Given the description of an element on the screen output the (x, y) to click on. 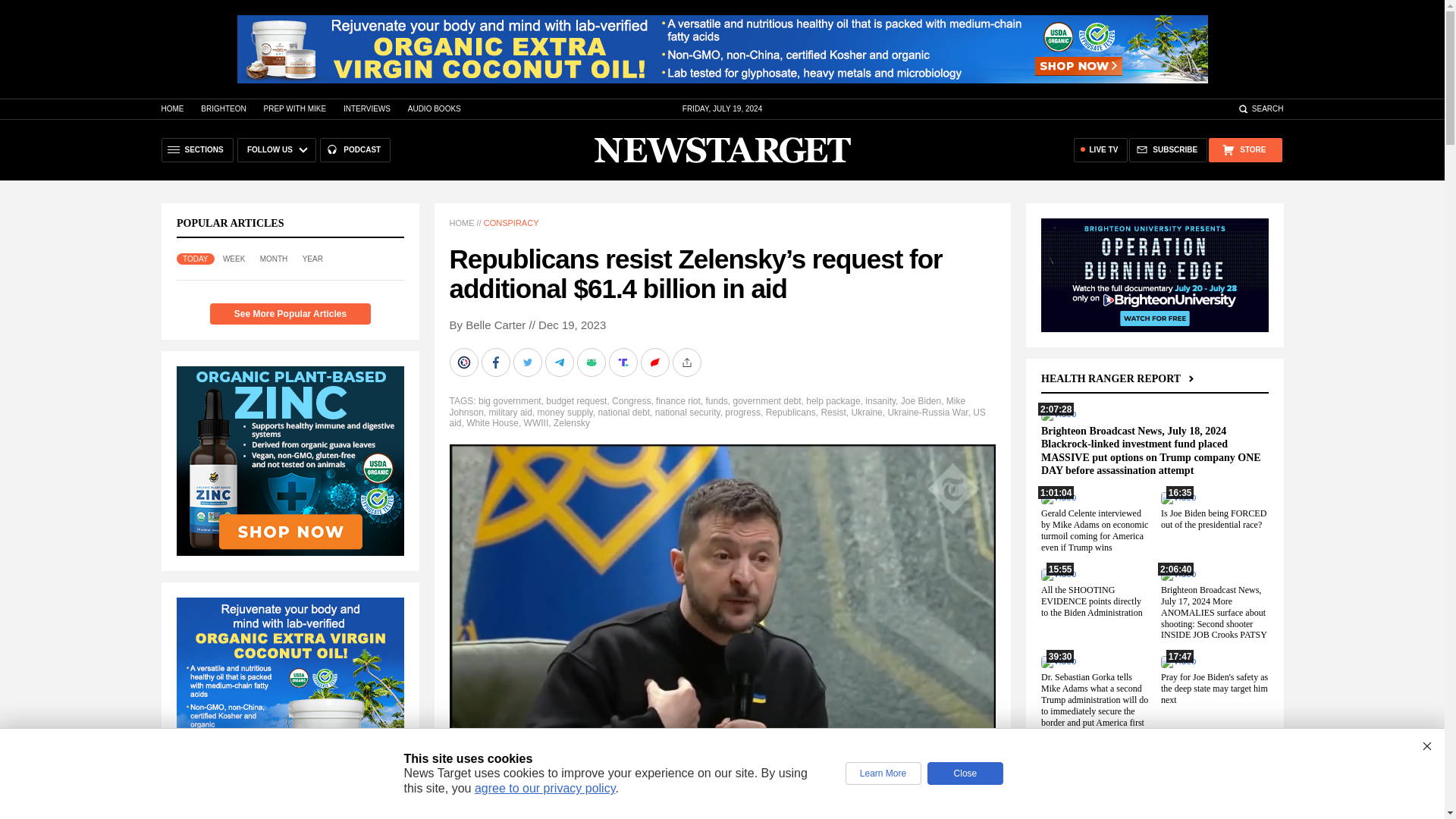
PODCAST (355, 150)
17:47 (1177, 661)
Share on Twitter (528, 362)
HEALTH RANGER REPORT (1119, 378)
2:06:40 (1177, 573)
Share on Gettr (655, 362)
Share on GAB (592, 362)
2:07:28 (1058, 413)
Share on Telegram (560, 362)
STORE (1244, 150)
SEARCH (1260, 108)
